Given the description of an element on the screen output the (x, y) to click on. 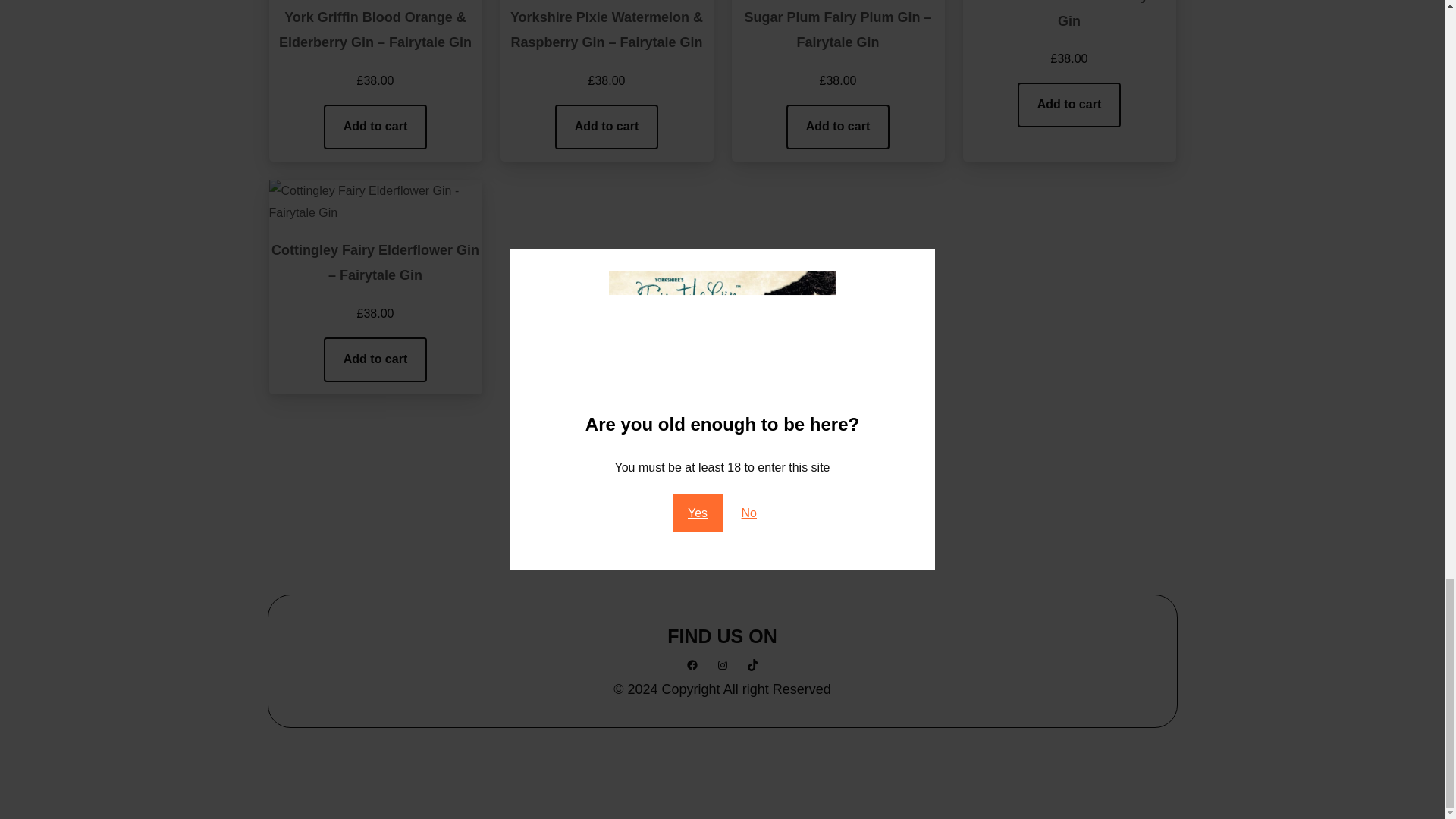
Add to cart (374, 126)
Add to cart (1068, 104)
Add to cart (837, 126)
Add to cart (374, 359)
Add to cart (606, 126)
